Given the description of an element on the screen output the (x, y) to click on. 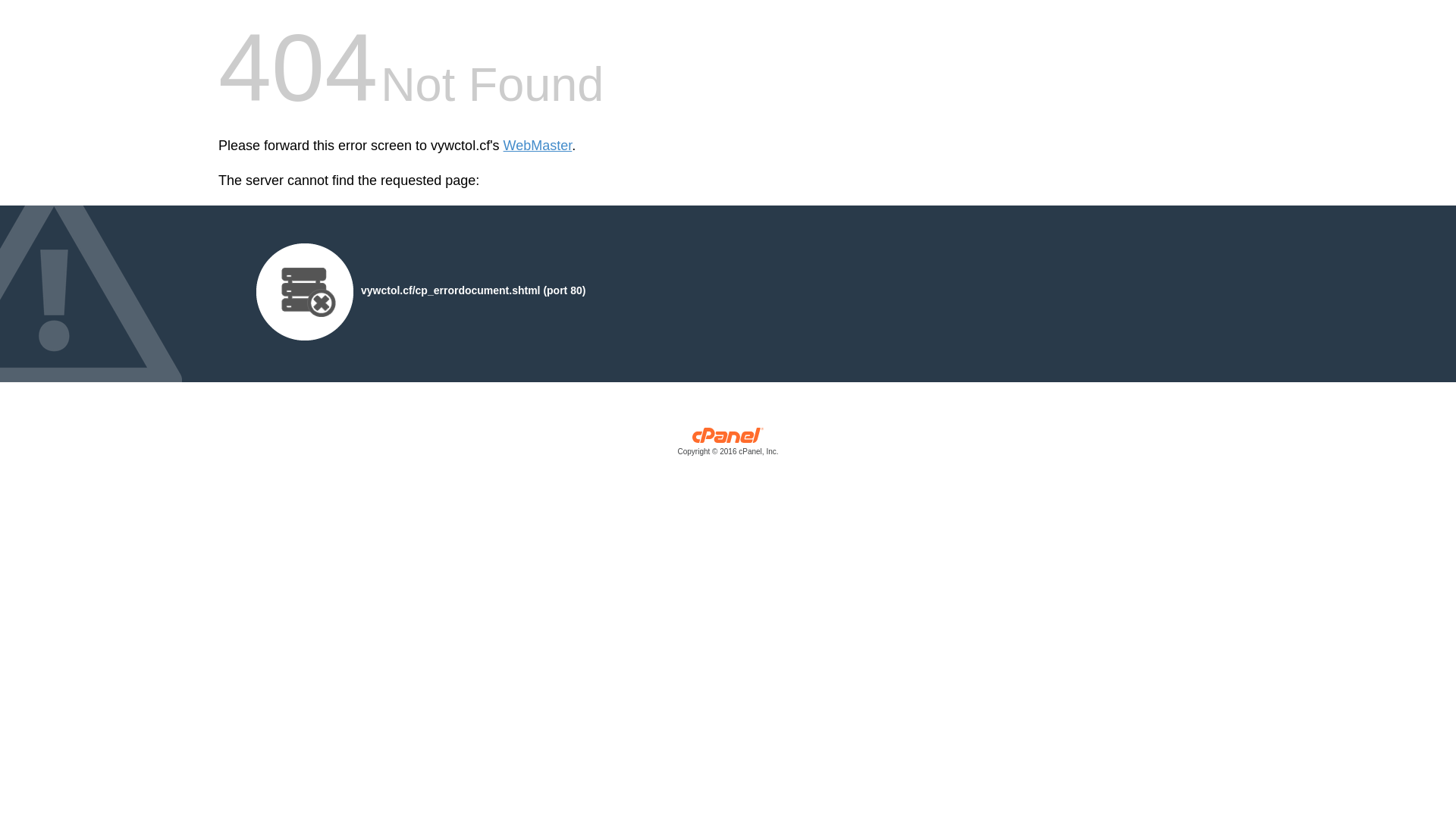
WebMaster Element type: text (537, 145)
